Given the description of an element on the screen output the (x, y) to click on. 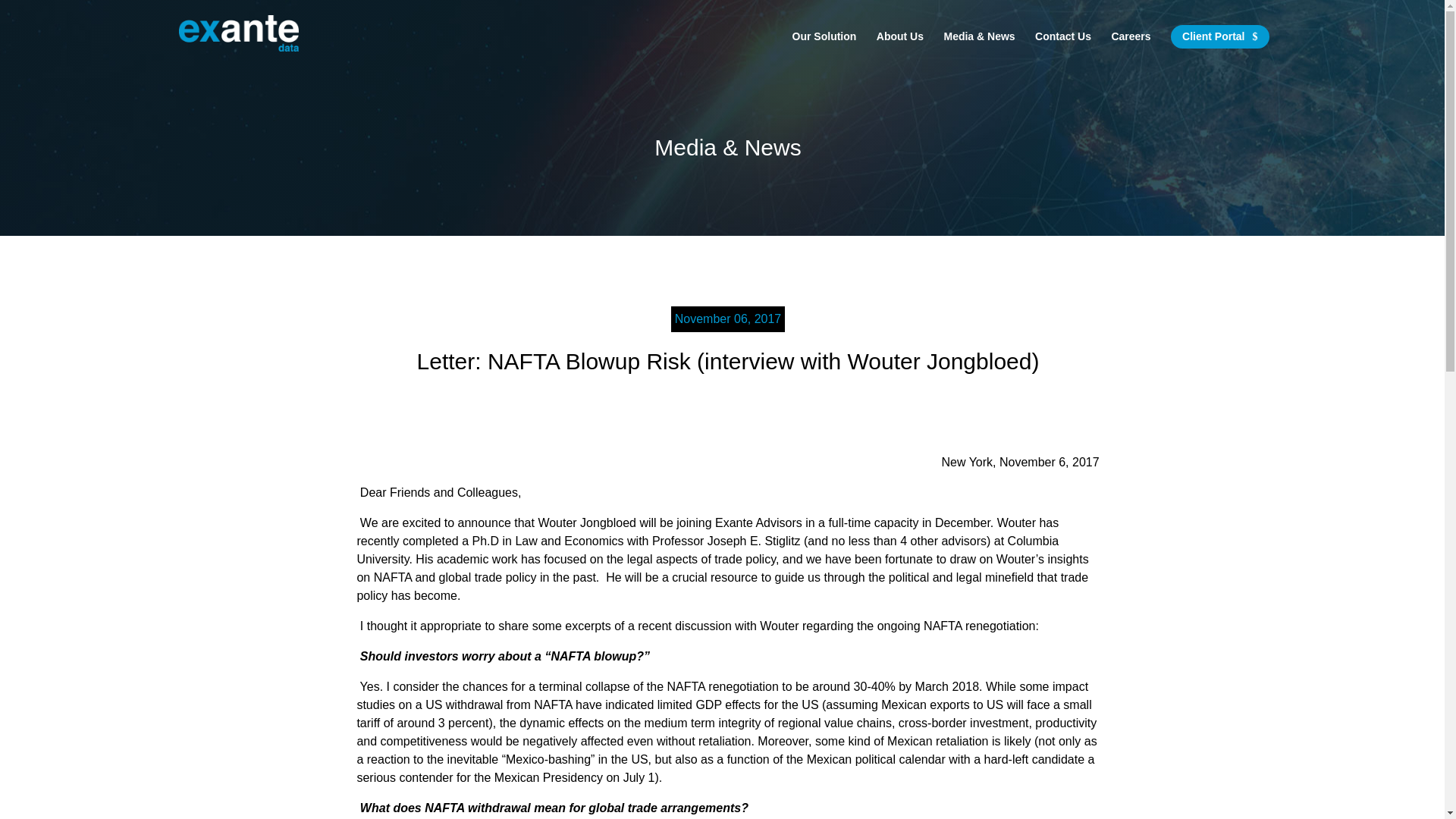
Client Portal (1219, 36)
Our Solution (824, 48)
Careers (1130, 48)
About Us (899, 48)
Contact Us (1062, 48)
